Given the description of an element on the screen output the (x, y) to click on. 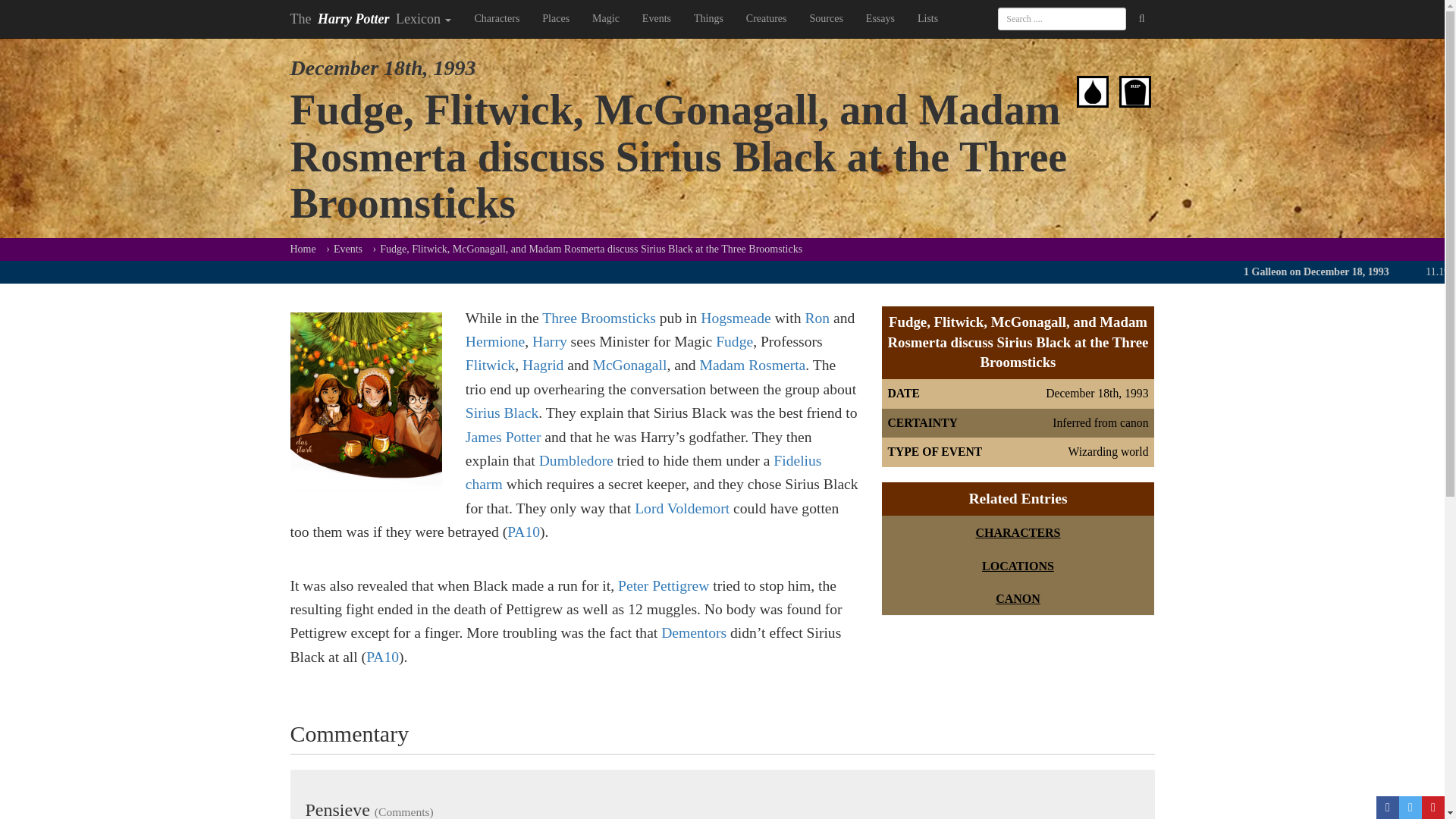
Death (1135, 89)
Blood status and prejudice (1092, 89)
The Harry Potter Lexicon (371, 18)
Places (555, 18)
Magic (605, 18)
Death (1135, 91)
Characters (497, 18)
Blood status and prejudice (1092, 91)
